Given the description of an element on the screen output the (x, y) to click on. 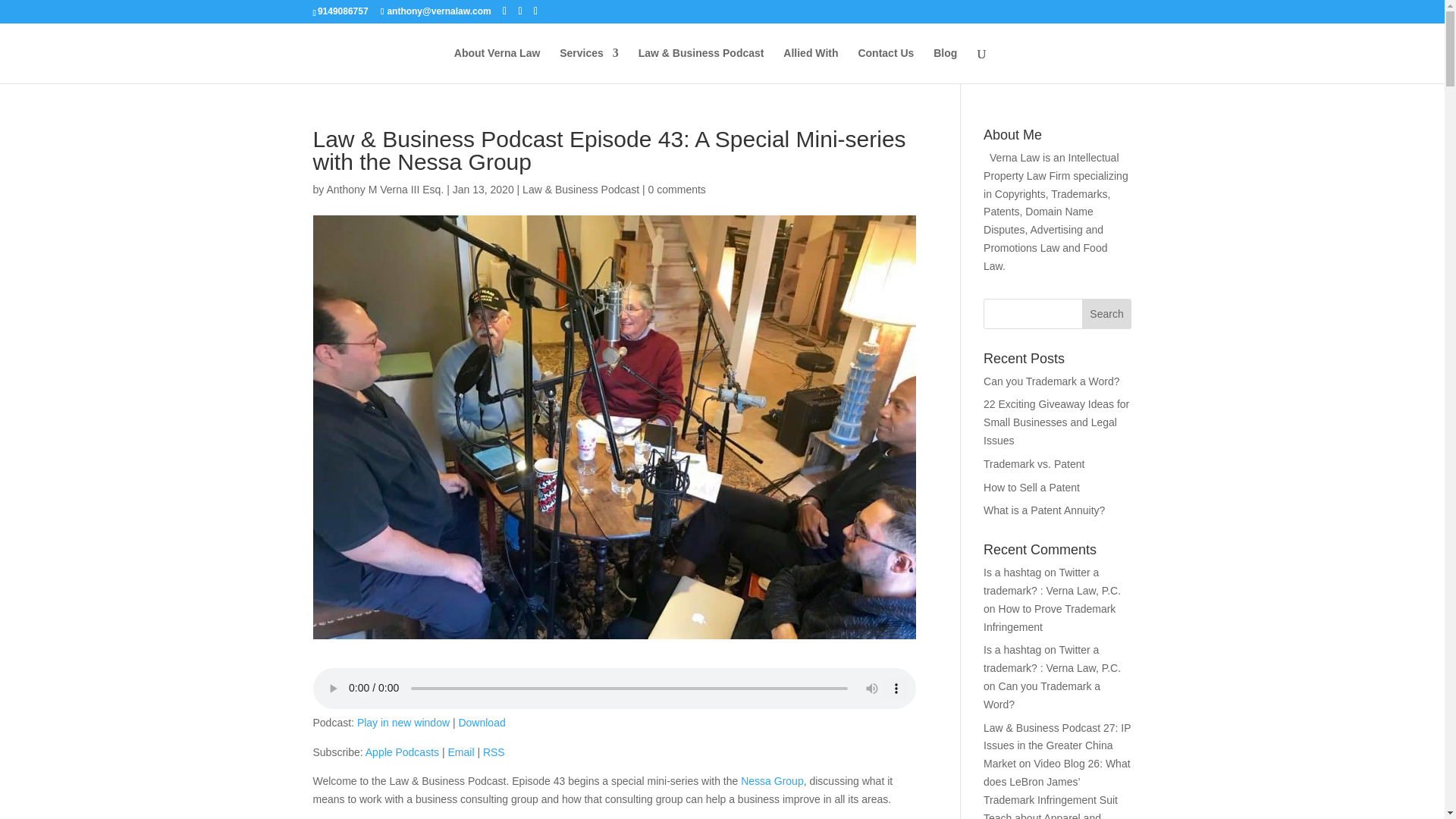
Download (481, 722)
Subscribe on Apple Podcasts (402, 752)
Download (481, 722)
Email (460, 752)
Subscribe via RSS (494, 752)
RSS (494, 752)
Anthony M Verna III Esq. (385, 189)
Allied With (810, 65)
Contact Us (885, 65)
Search (1106, 313)
